Given the description of an element on the screen output the (x, y) to click on. 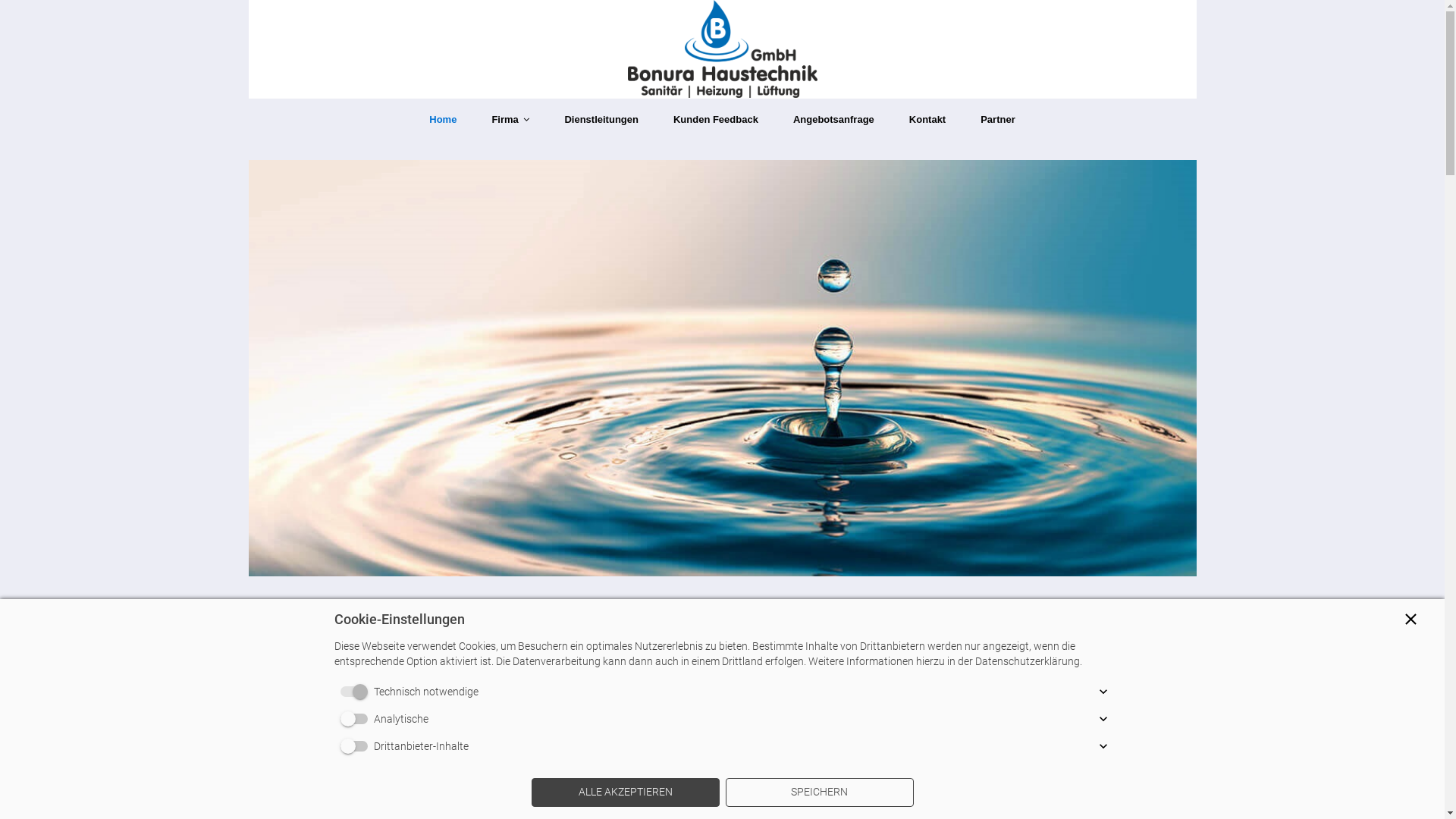
Angebotsanfrage Element type: text (833, 119)
Partner Element type: text (997, 119)
SPEICHERN Element type: text (818, 792)
Home Element type: text (442, 119)
Dienstleitungen Element type: text (601, 119)
Kontakt Element type: text (927, 119)
ALLE AKZEPTIEREN Element type: text (624, 792)
Firma Element type: text (510, 119)
Kunden Feedback Element type: text (715, 119)
